Given the description of an element on the screen output the (x, y) to click on. 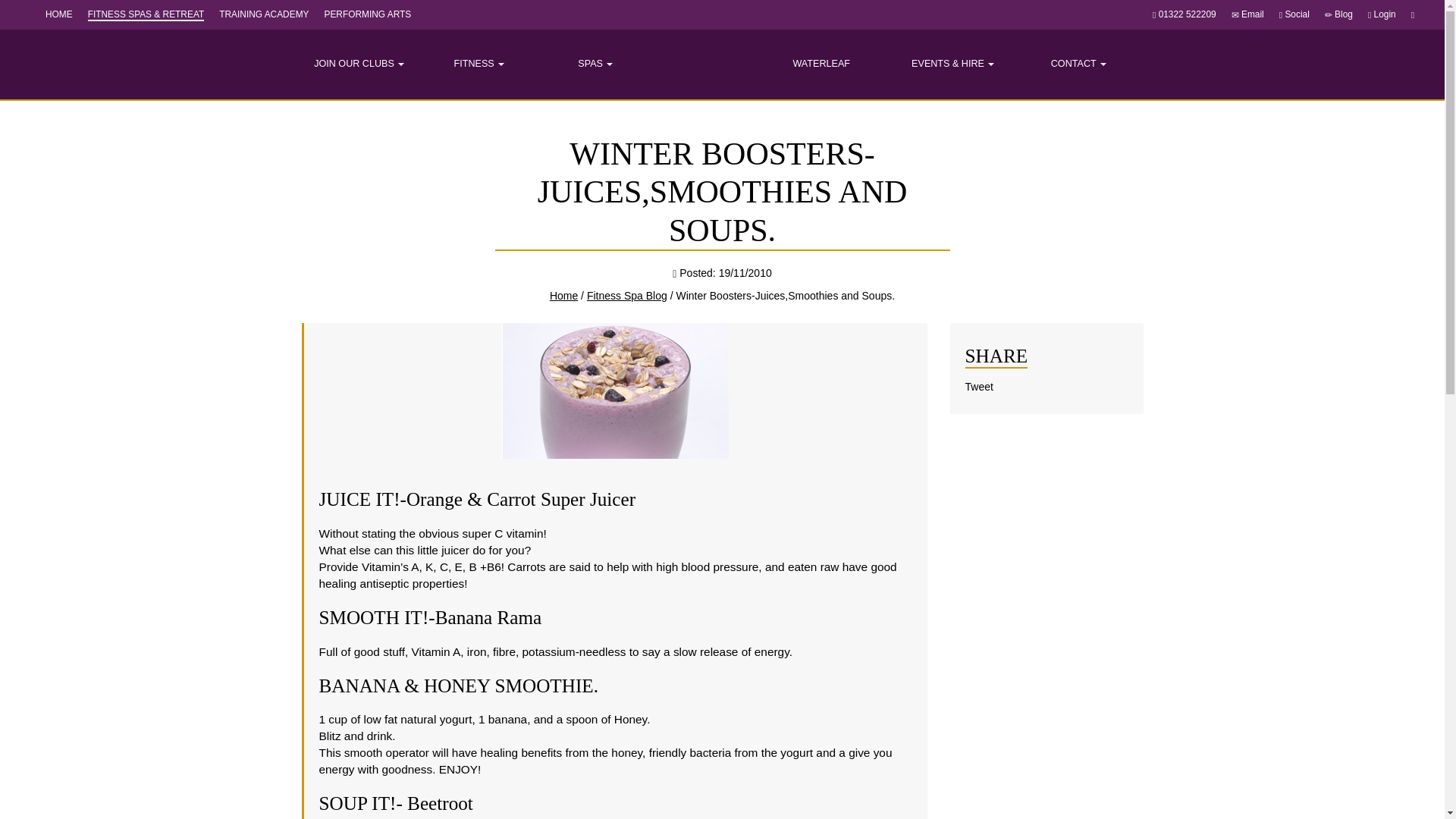
FITNESS (478, 64)
TRAINING ACADEMY (263, 14)
Performing Arts (366, 14)
Login (1385, 14)
Social (1296, 14)
SPAS (595, 64)
HOME (58, 14)
PERFORMING ARTS (366, 14)
Home (58, 14)
Join Our Clubs (358, 64)
Blog (1343, 14)
Email (1252, 14)
Training Academy (263, 14)
JOIN OUR CLUBS (358, 64)
01322 522209 (1186, 14)
